Given the description of an element on the screen output the (x, y) to click on. 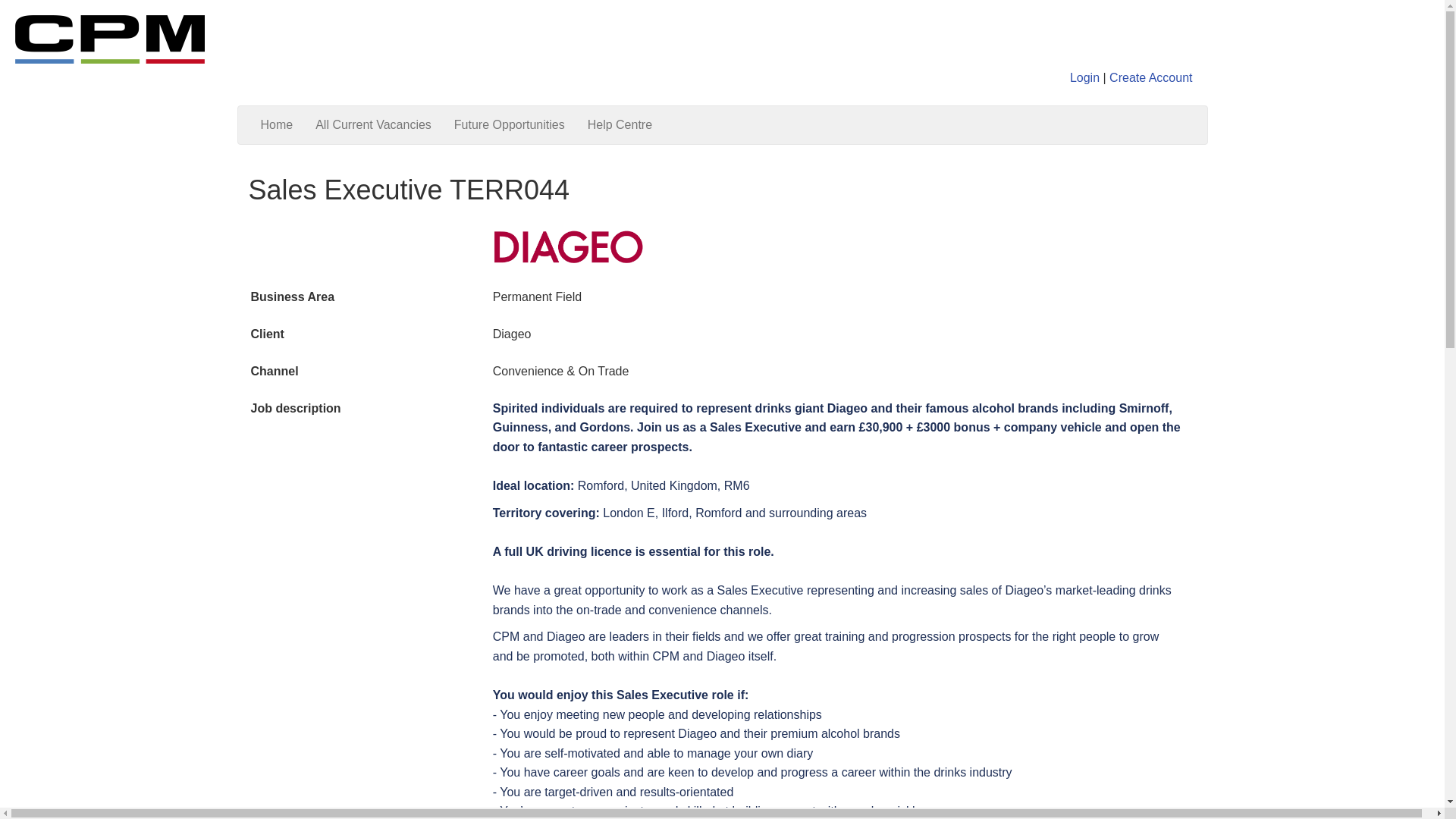
Login (1084, 77)
Future Opportunities (509, 125)
Help Centre (619, 125)
Create Account (1150, 77)
All Current Vacancies (373, 125)
Home (276, 125)
